Given the description of an element on the screen output the (x, y) to click on. 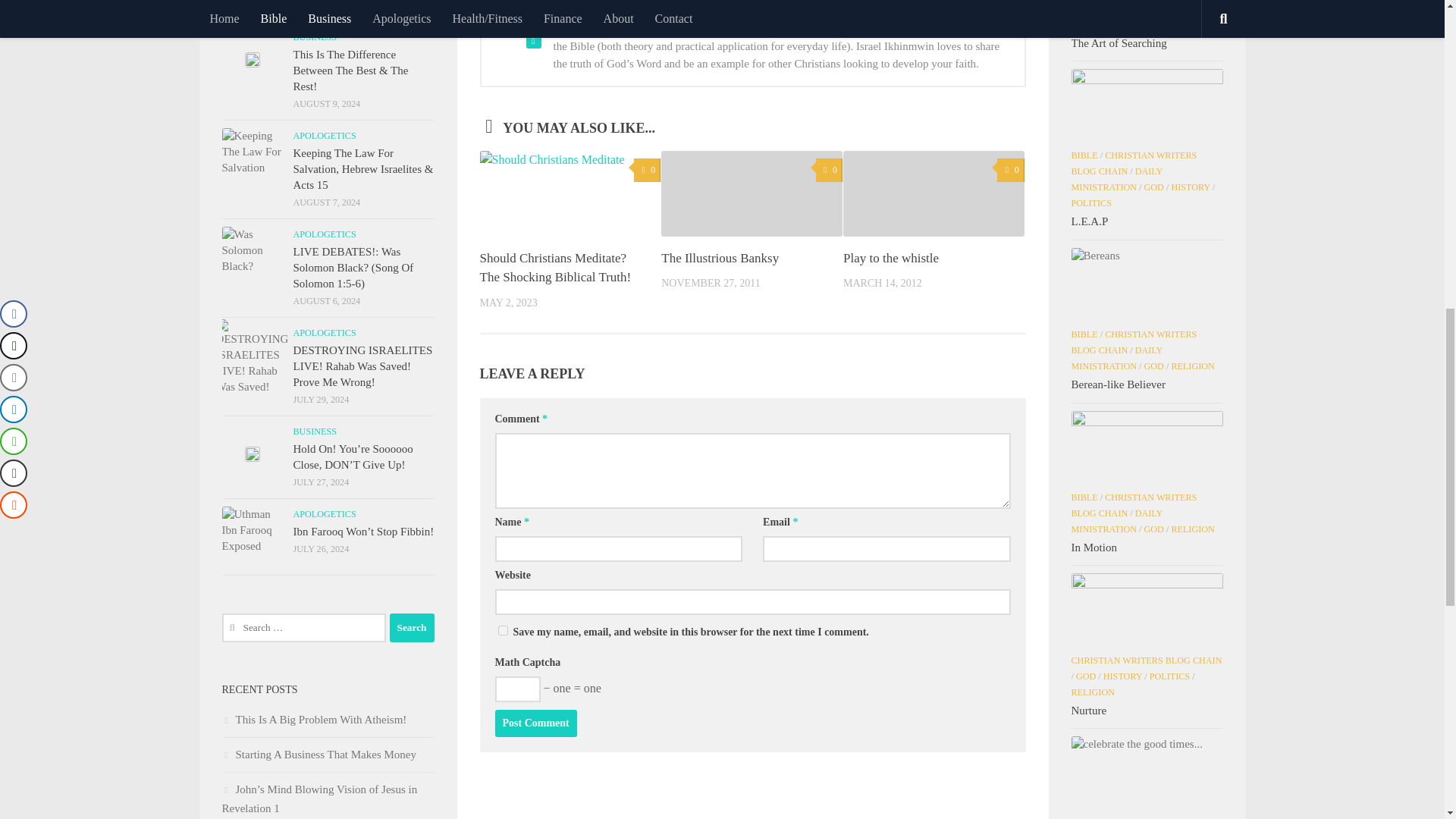
yes (501, 630)
The Illustrious Banksy (719, 257)
Search (411, 627)
Should Christians Meditate? The Shocking Biblical Truth! (554, 267)
Play to the whistle (891, 257)
0 (829, 169)
0 (647, 169)
Post Comment (535, 723)
0 (1010, 169)
Search (411, 627)
